Given the description of an element on the screen output the (x, y) to click on. 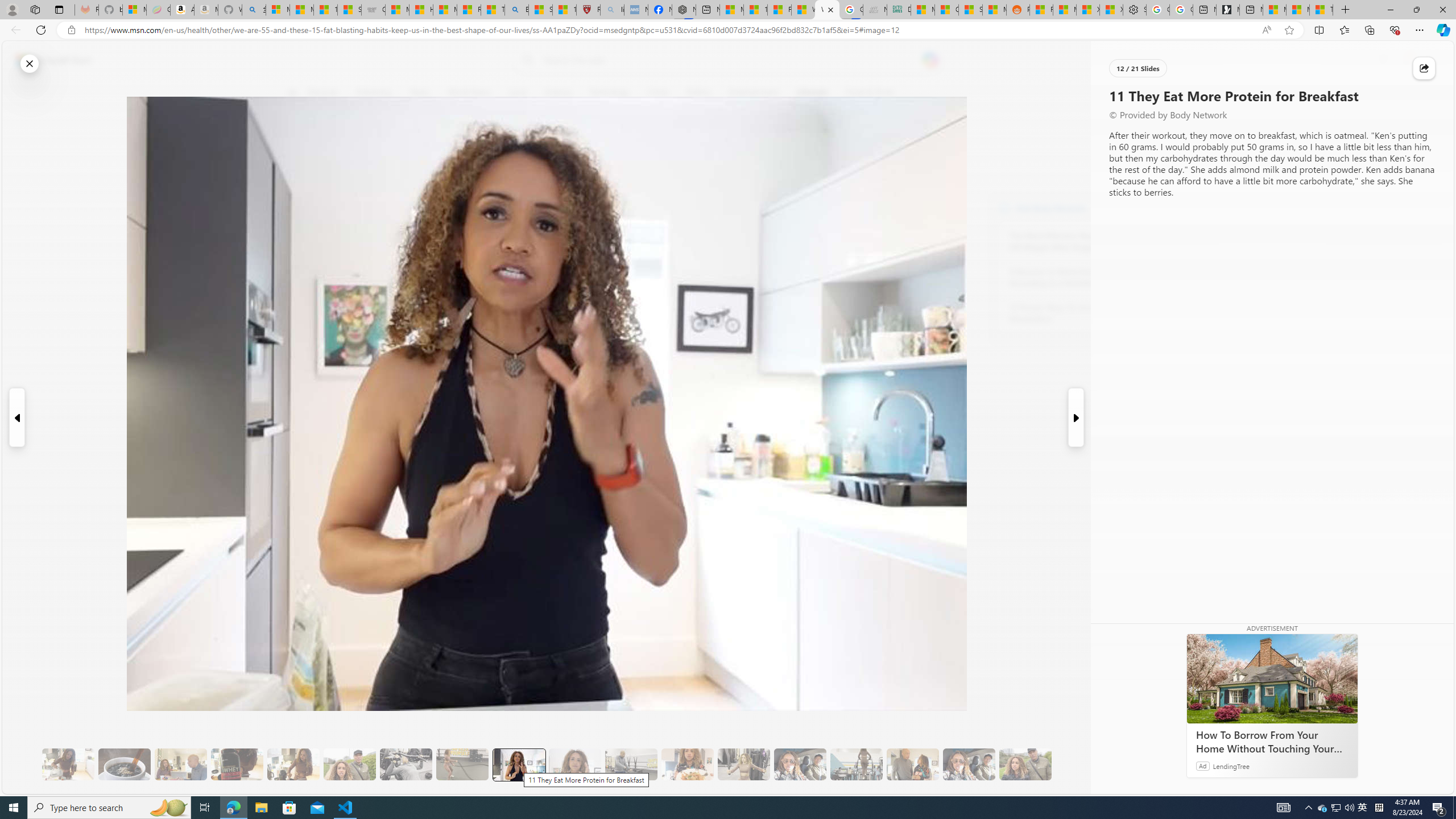
16 The Couple's Program Helps with Accountability (800, 764)
10 Then, They Do HIIT Cardio (462, 764)
R******* | Trusted Community Engagement and Contributions (1041, 9)
8 Be Mindful of Coffee (124, 764)
13 Her Husband Does Group Cardio Classs (631, 764)
Fitness - MSN (779, 9)
